Given the description of an element on the screen output the (x, y) to click on. 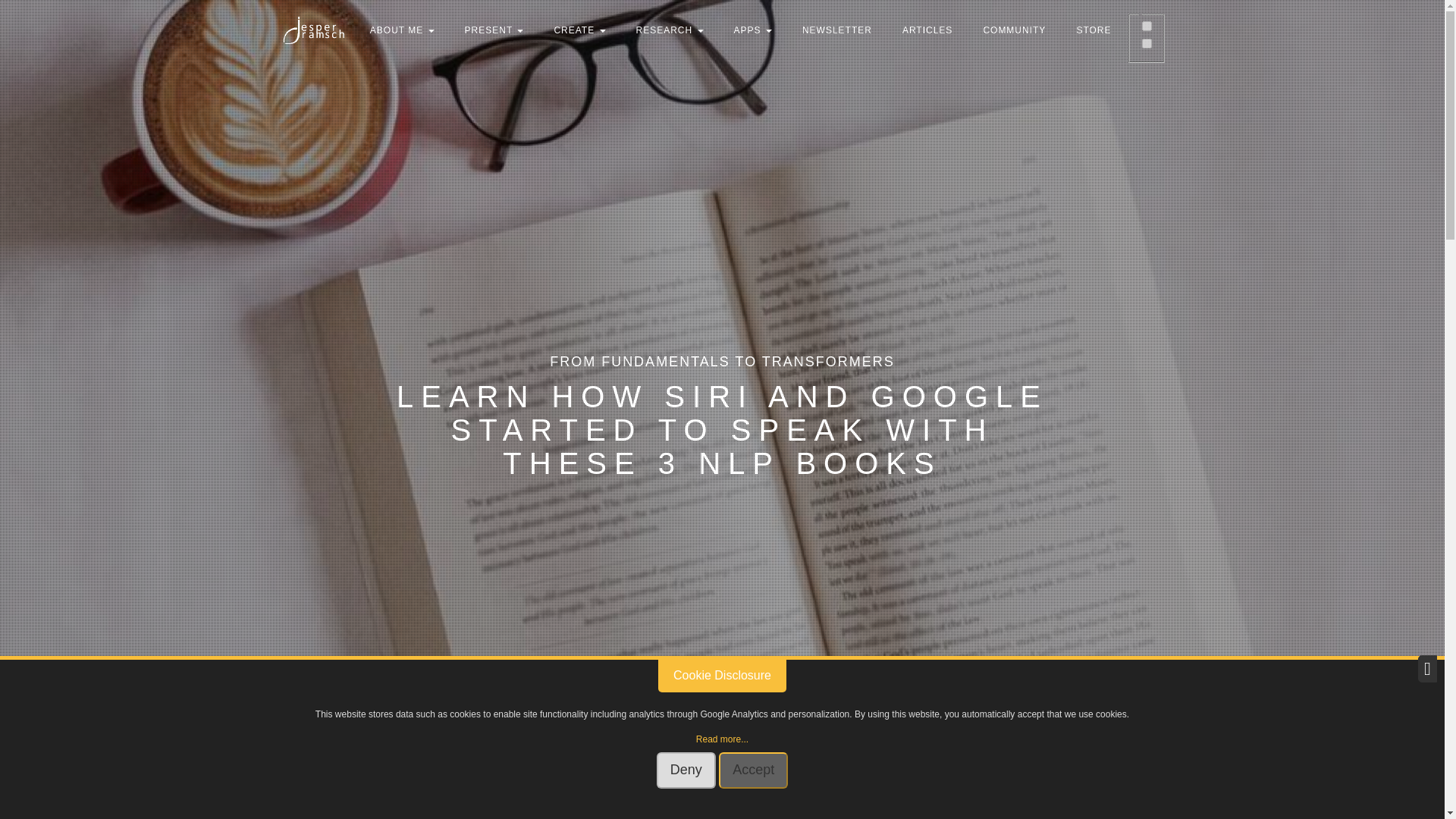
ABOUT ME (402, 30)
NEWSLETTER (836, 30)
COMMUNITY (1014, 30)
Read more... (721, 738)
CREATE (579, 30)
APPS (753, 30)
ARTICLES (927, 30)
RESEARCH (670, 30)
STORE (1093, 30)
PRESENT (493, 30)
